Given the description of an element on the screen output the (x, y) to click on. 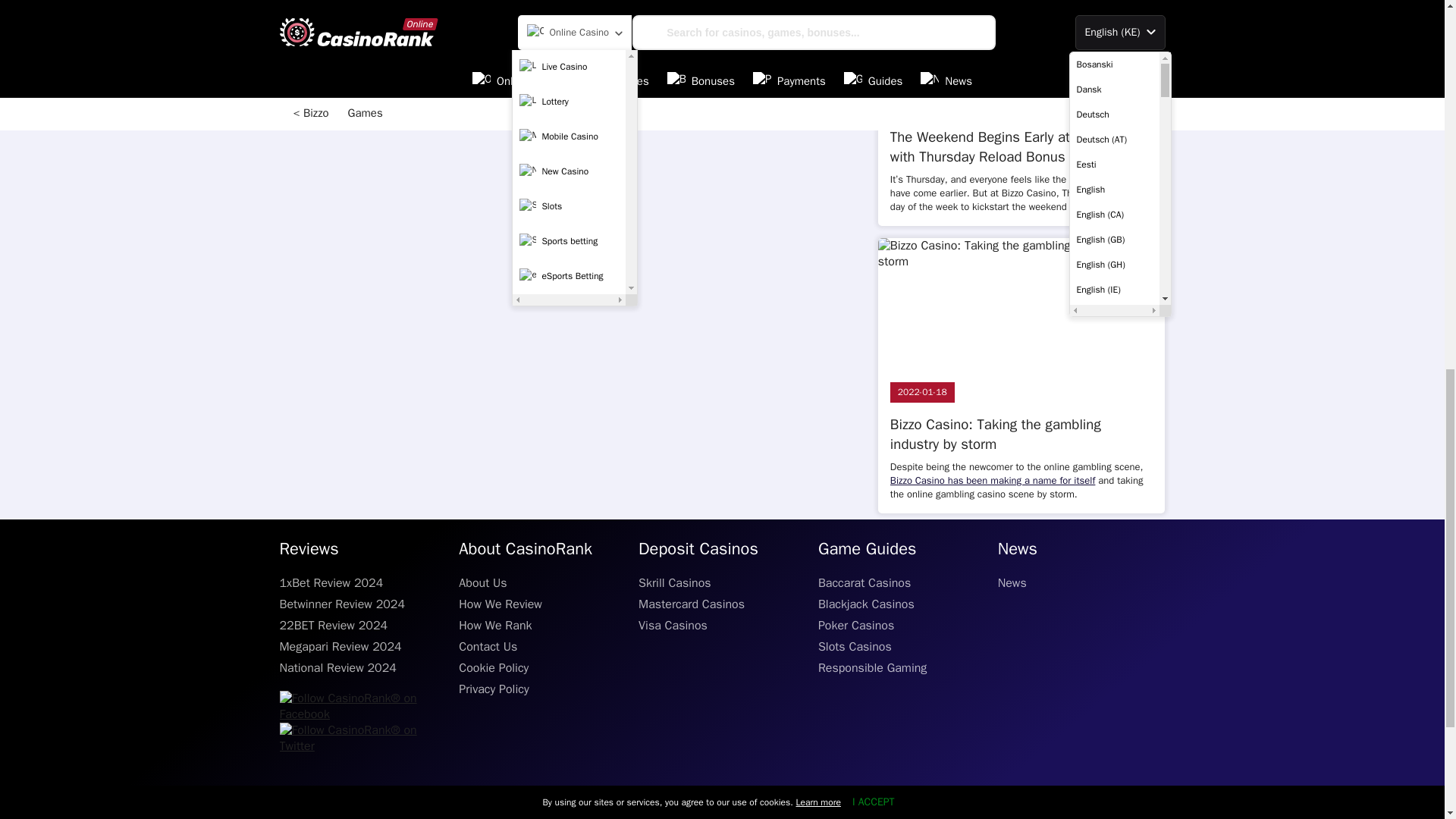
Hrvatski (1113, 4)
